Given the description of an element on the screen output the (x, y) to click on. 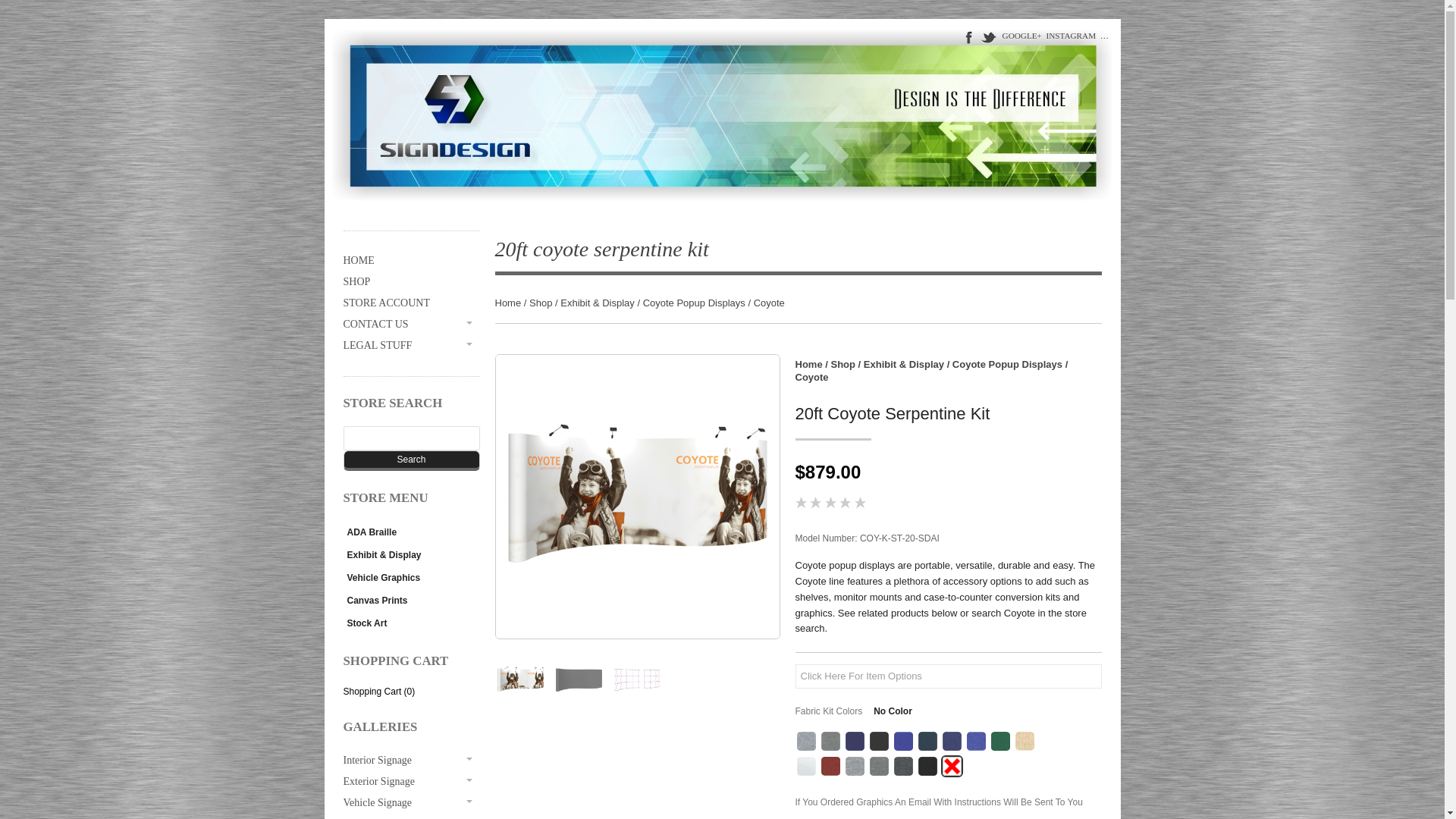
Coyote (811, 377)
INSTAGRAM (1071, 35)
LEGAL STUFF (410, 345)
Charcoal  (878, 766)
HOME (410, 260)
Monarch  (951, 741)
Coyote Popup Displays (694, 302)
Sapphire  (853, 741)
Azure Blue  (902, 741)
Home (808, 364)
Storm  (829, 741)
Beach  (1024, 741)
STORE ACCOUNT (410, 302)
Shop (842, 364)
